Given the description of an element on the screen output the (x, y) to click on. 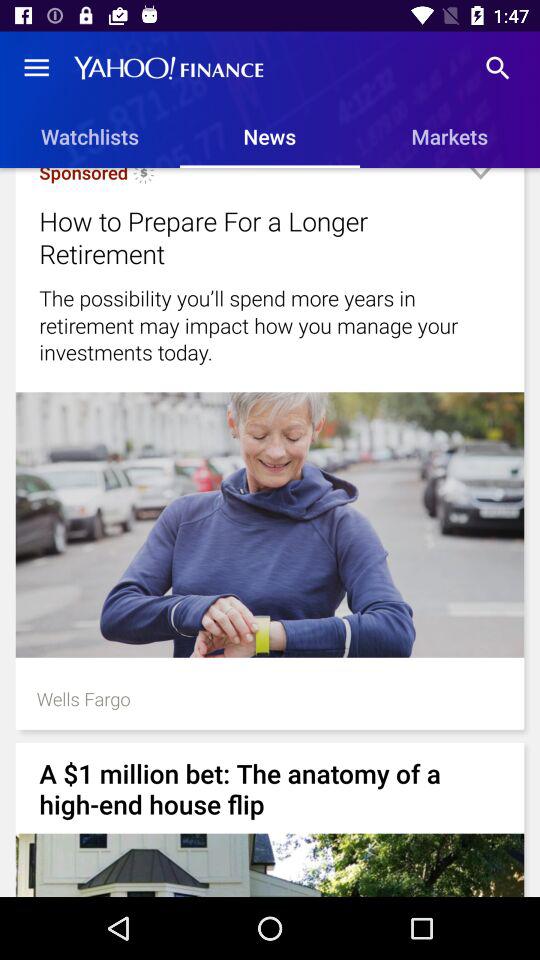
launch the possibility you icon (269, 325)
